Given the description of an element on the screen output the (x, y) to click on. 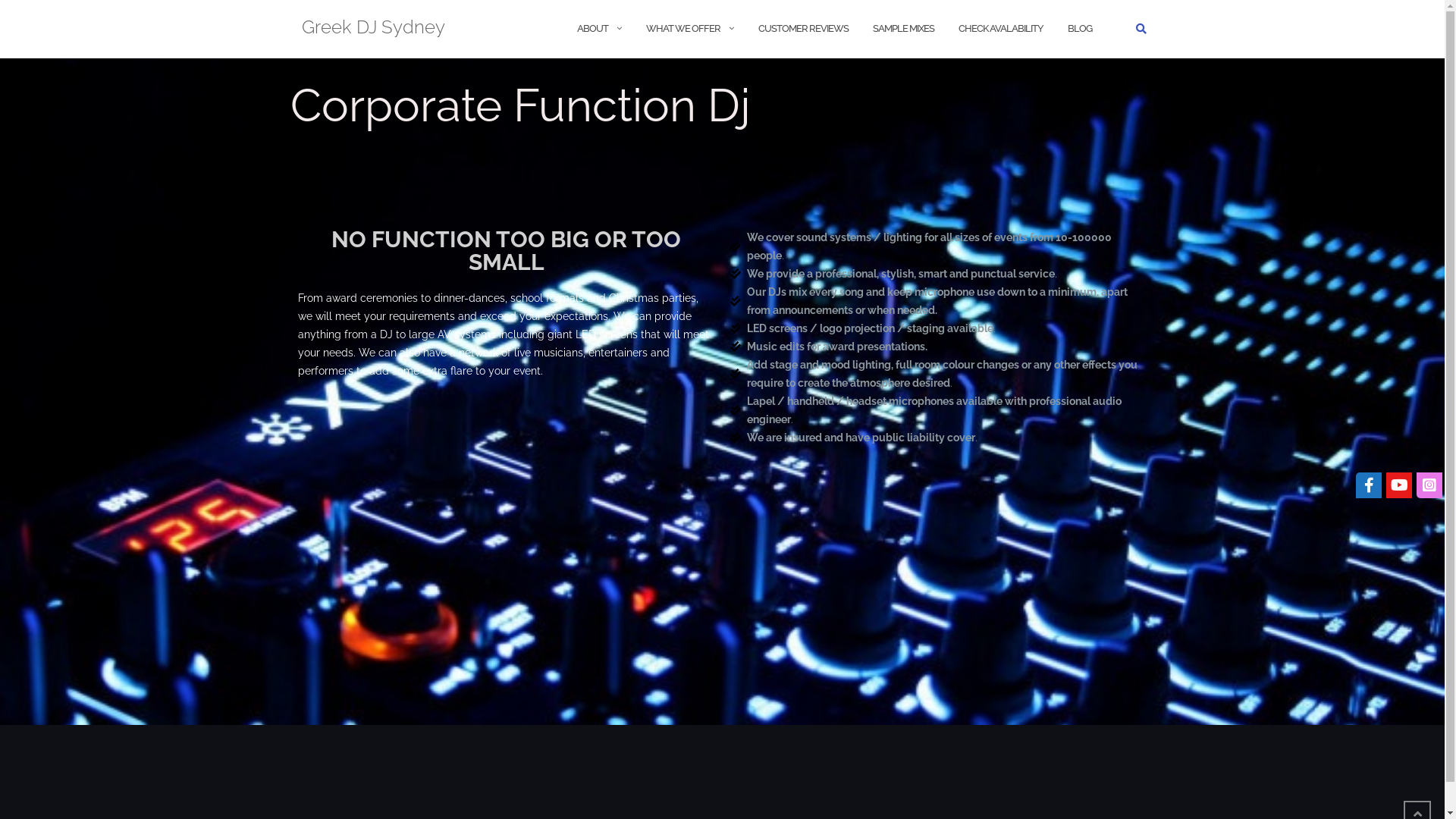
Greek DJ Sydney Element type: text (373, 28)
BLOG Element type: text (1079, 28)
CUSTOMER REVIEWS Element type: text (803, 28)
WHAT WE OFFER Element type: text (683, 28)
SAMPLE MIXES Element type: text (902, 28)
CHECK AVALABILITY Element type: text (1000, 28)
ABOUT Element type: text (591, 28)
